Given the description of an element on the screen output the (x, y) to click on. 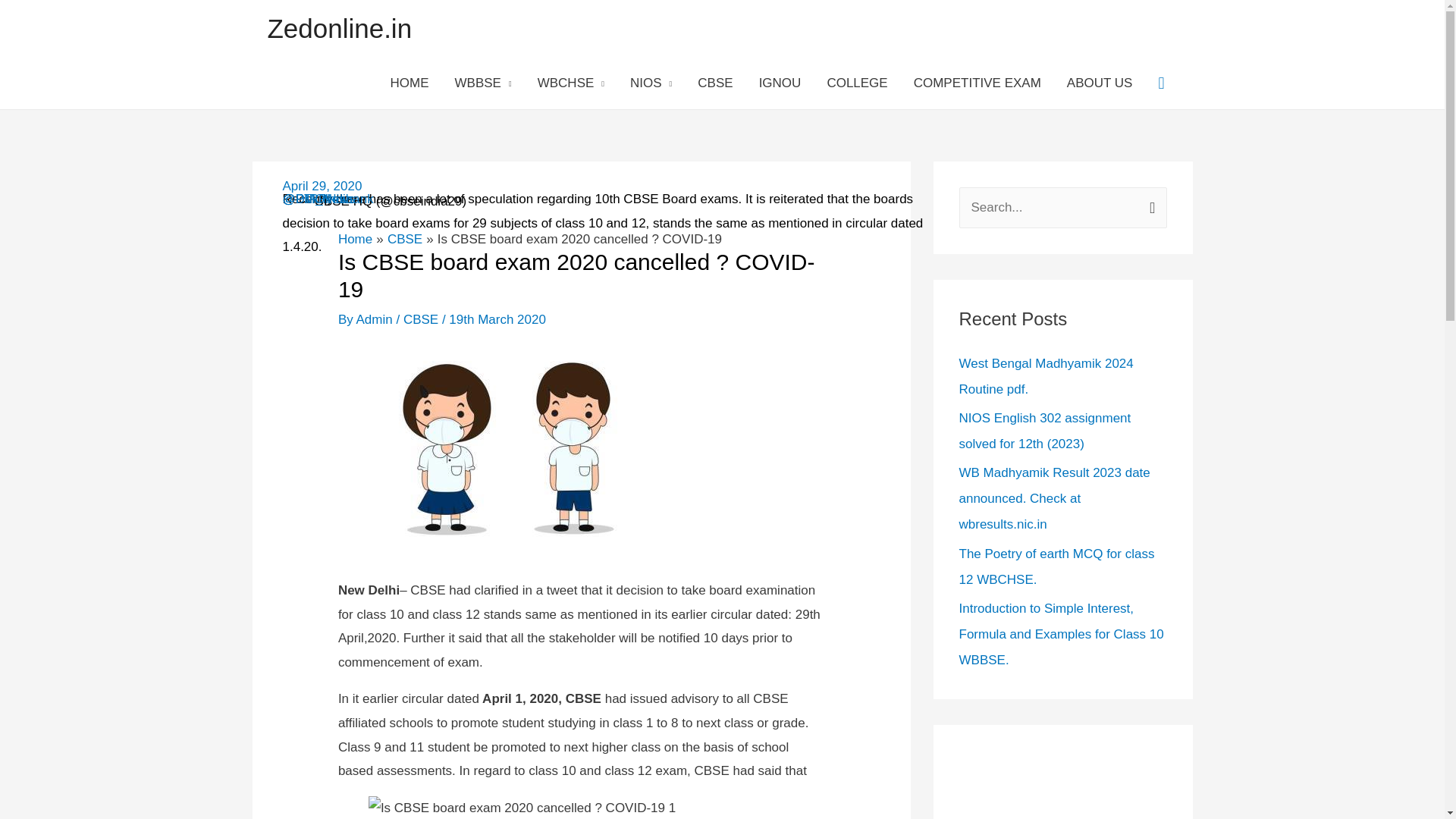
Search (1149, 203)
WBCHSE (570, 82)
NIOS (650, 82)
Search (1149, 203)
Is CBSE board exam 2020 cancelled ? COVID-19 3 (521, 807)
Is CBSE board exam 2020 cancelled ? COVID-19 2 (507, 444)
View all posts by Admin (376, 319)
WBBSE (483, 82)
Zedonline.in (339, 28)
HOME (409, 82)
